Given the description of an element on the screen output the (x, y) to click on. 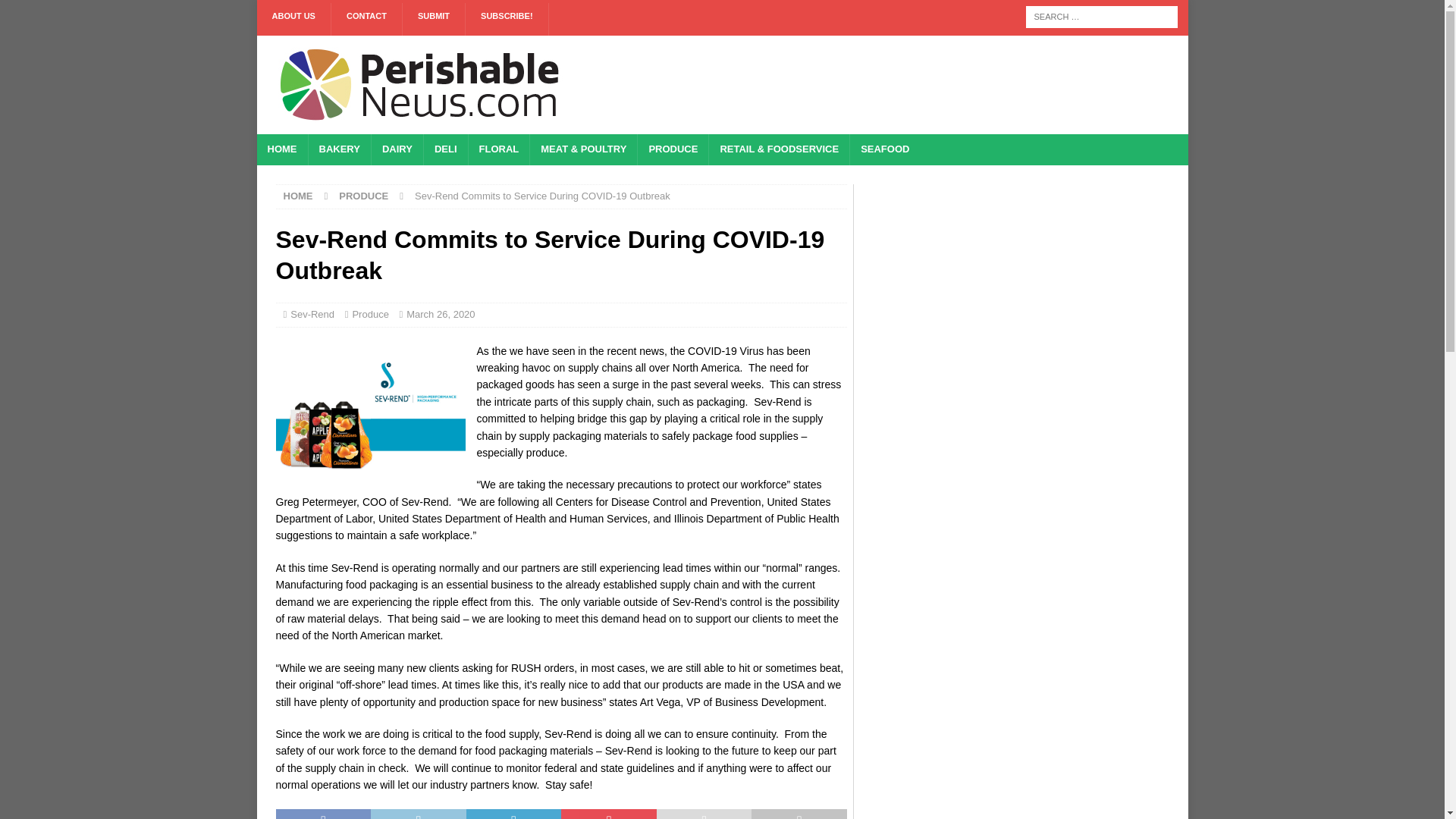
Search (56, 11)
Sev-Rend (311, 314)
HOME (281, 149)
BAKERY (339, 149)
ABOUT US (293, 19)
SUBMIT (434, 19)
Produce (370, 314)
CONTACT (367, 19)
PRODUCE (363, 195)
March 26, 2020 (440, 314)
